Given the description of an element on the screen output the (x, y) to click on. 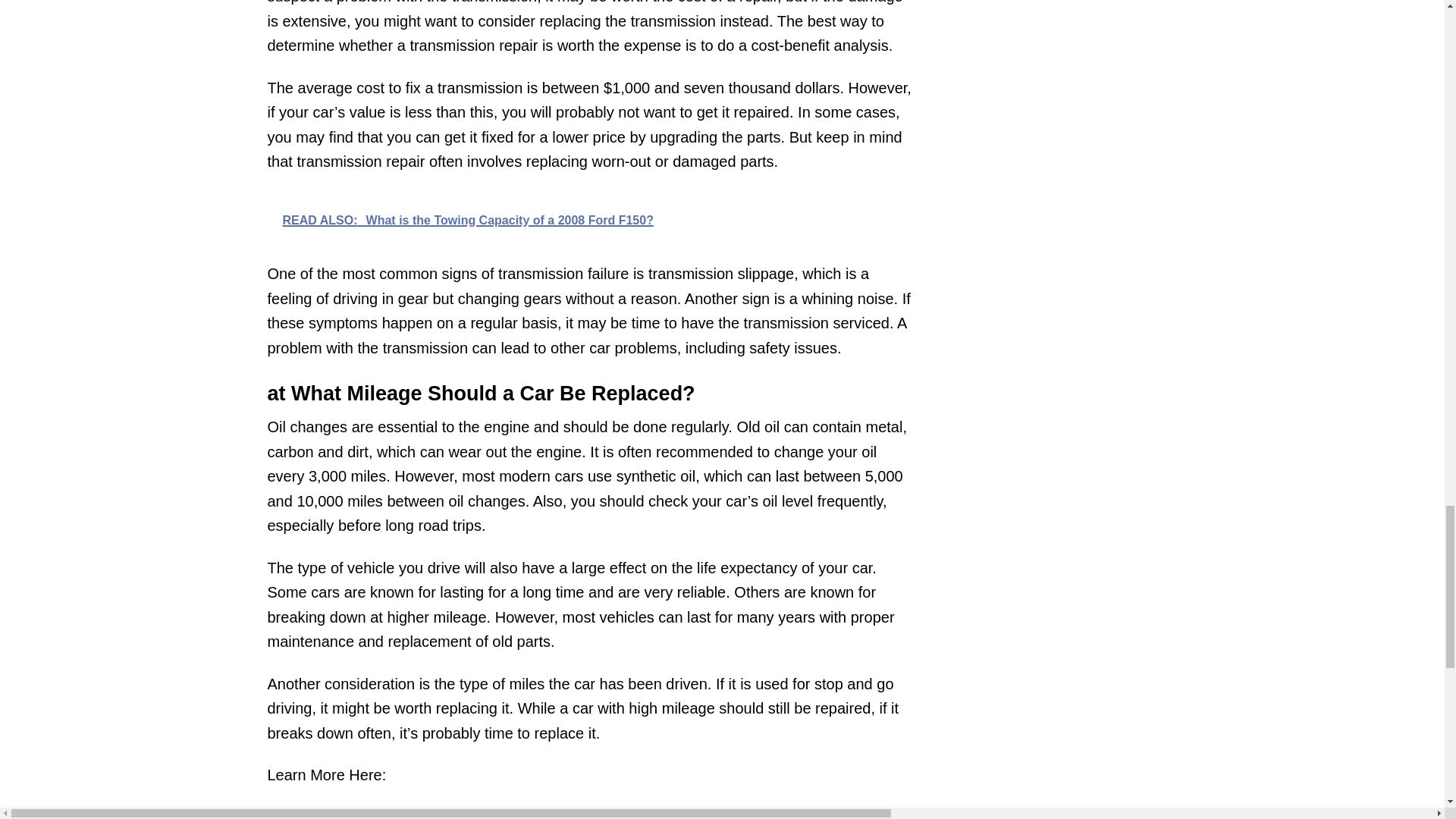
History of Trucks (344, 814)
READ ALSO:  What is the Towing Capacity of a 2008 Ford F150? (588, 219)
